Given the description of an element on the screen output the (x, y) to click on. 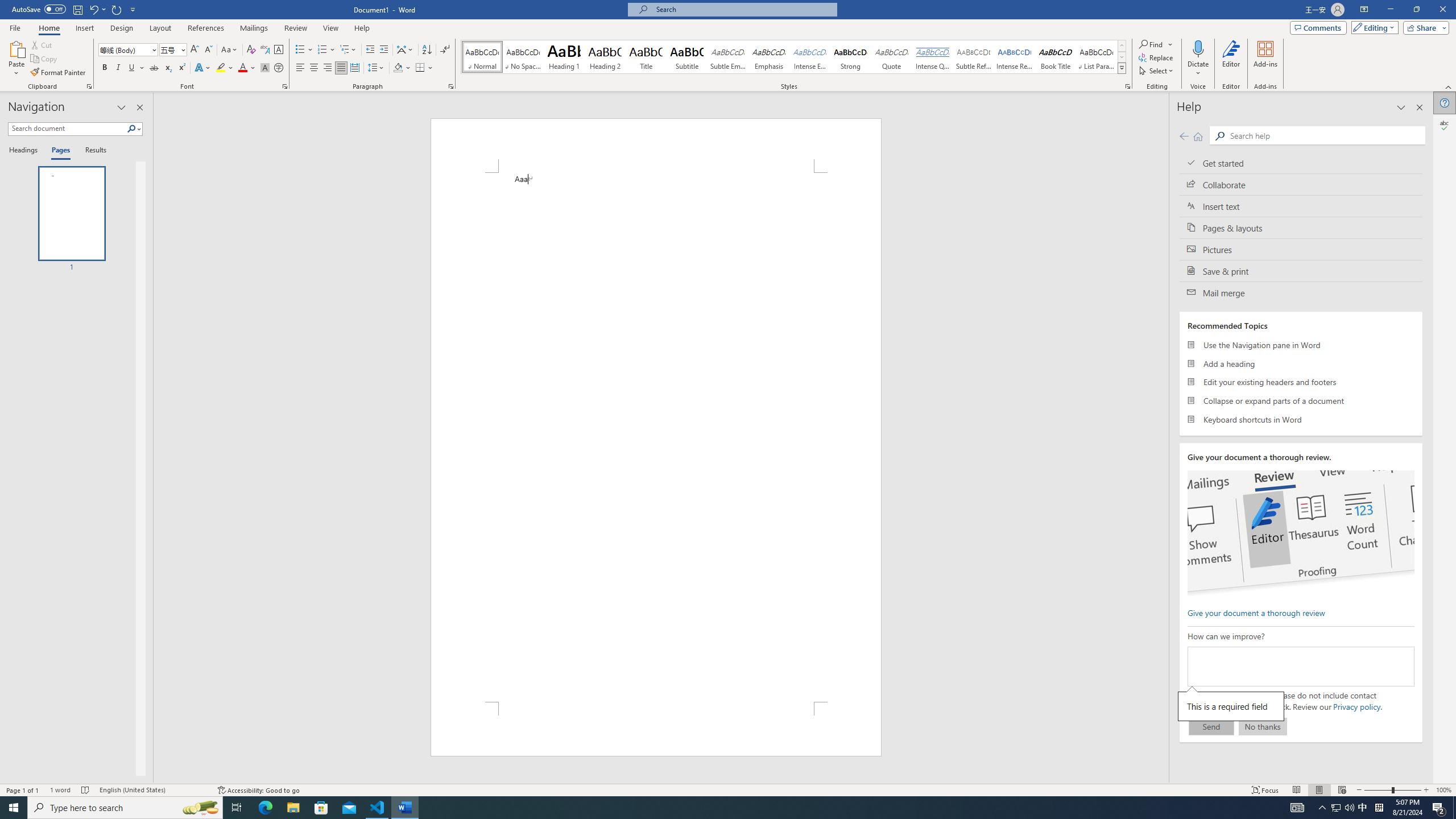
Pages & layouts (1300, 228)
Page Number Page 1 of 1 (22, 790)
Send (1211, 726)
Intense Emphasis (809, 56)
